Given the description of an element on the screen output the (x, y) to click on. 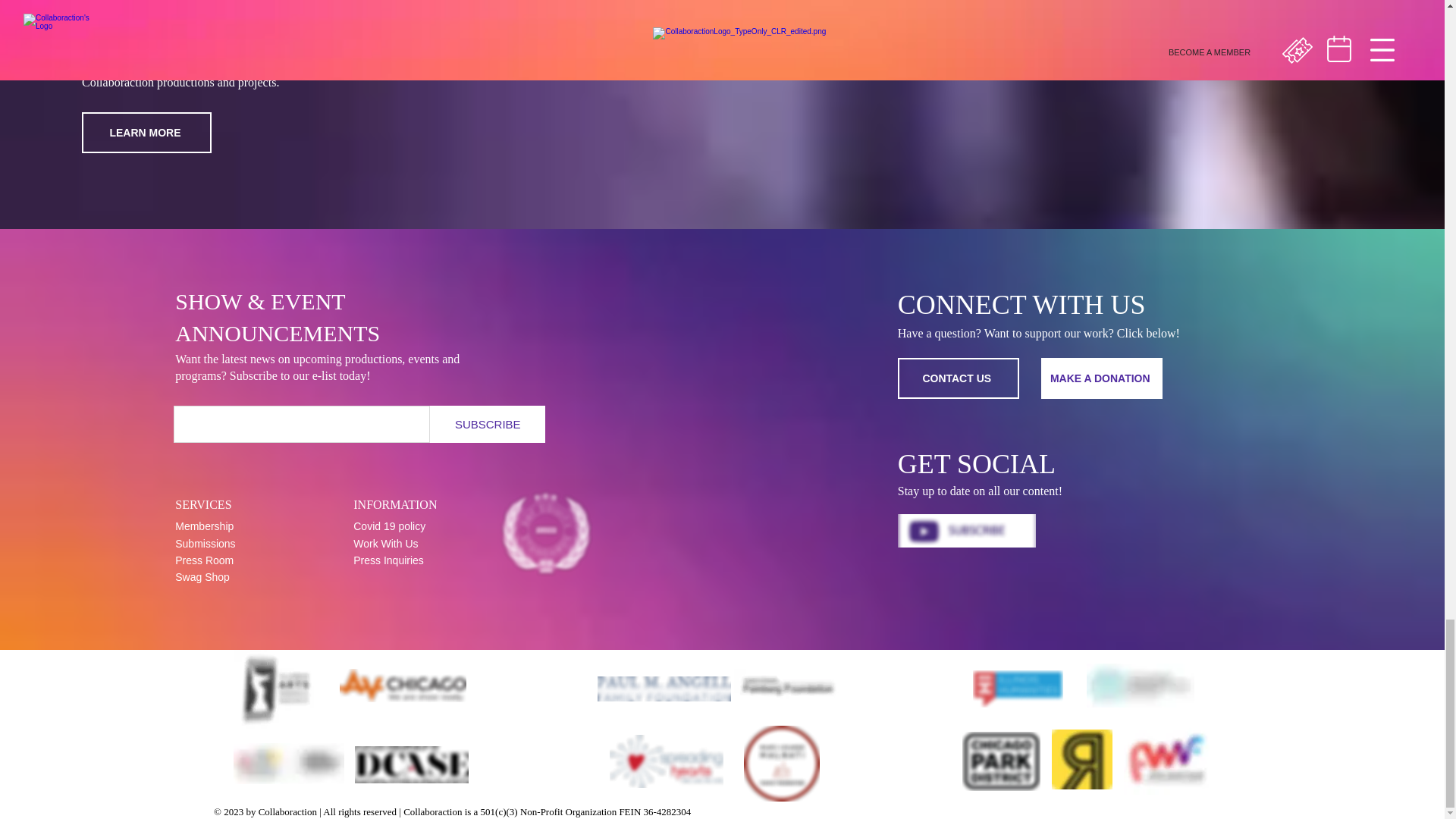
Press Inquiries (388, 560)
Press Room (203, 560)
CONTACT US (958, 377)
SUBSCRIBE (486, 424)
LEARN MORE (146, 132)
Covid 19 policy (389, 526)
Work With Us (385, 543)
Swag Shop (202, 576)
Submissions (204, 543)
MAKE A DONATION (1101, 377)
